Given the description of an element on the screen output the (x, y) to click on. 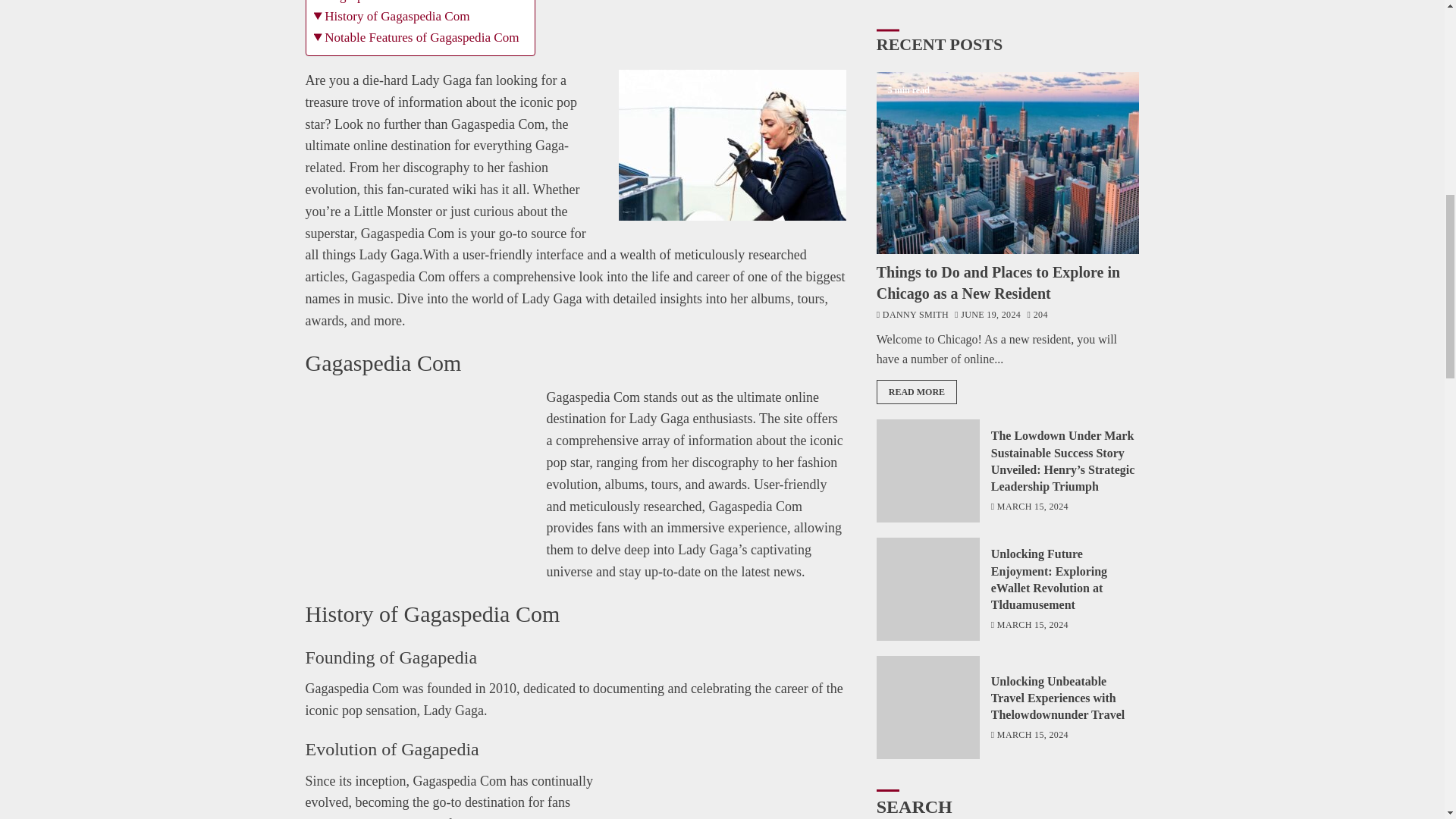
History of Gagaspedia Com (392, 15)
Gagaspedia Com (363, 2)
Notable Features of Gagaspedia Com (416, 37)
Gagaspedia Com (363, 2)
History of Gagaspedia Com (392, 15)
Notable Features of Gagaspedia Com (416, 37)
